Given the description of an element on the screen output the (x, y) to click on. 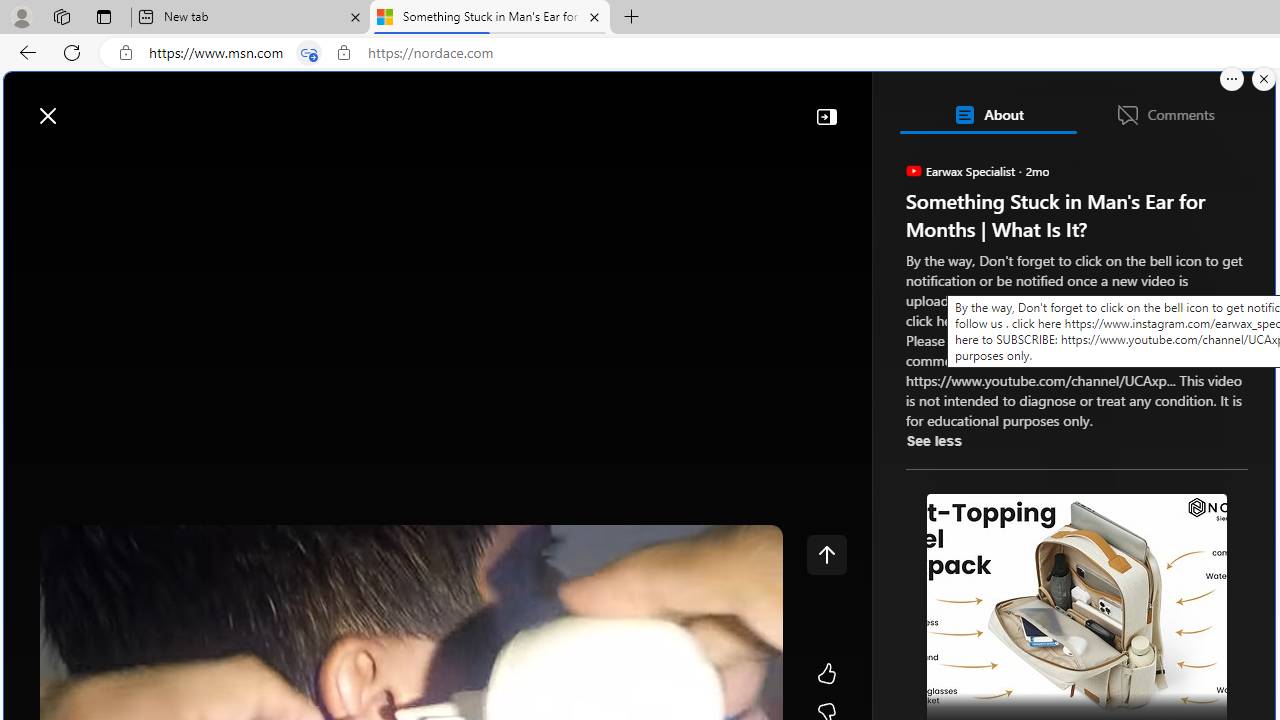
Discover (91, 162)
Watch (257, 162)
Open Copilot (995, 105)
Microsoft rewards (1151, 105)
Something Stuck in Man's Ear for Months | What Is It? (490, 17)
Notifications (1190, 105)
Web search (283, 105)
See less (933, 439)
Like (826, 673)
